Given the description of an element on the screen output the (x, y) to click on. 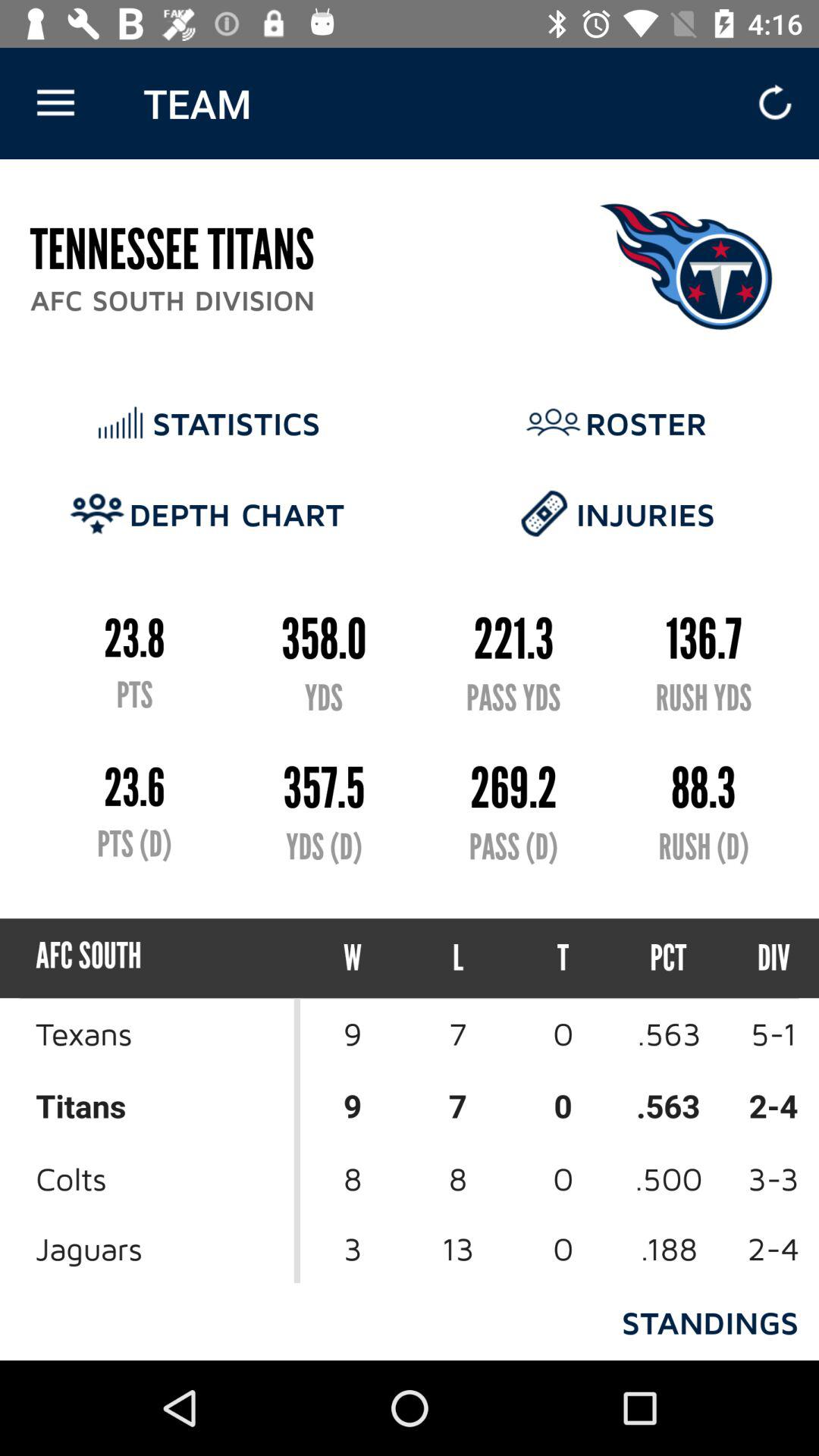
open icon next to the team (55, 103)
